Given the description of an element on the screen output the (x, y) to click on. 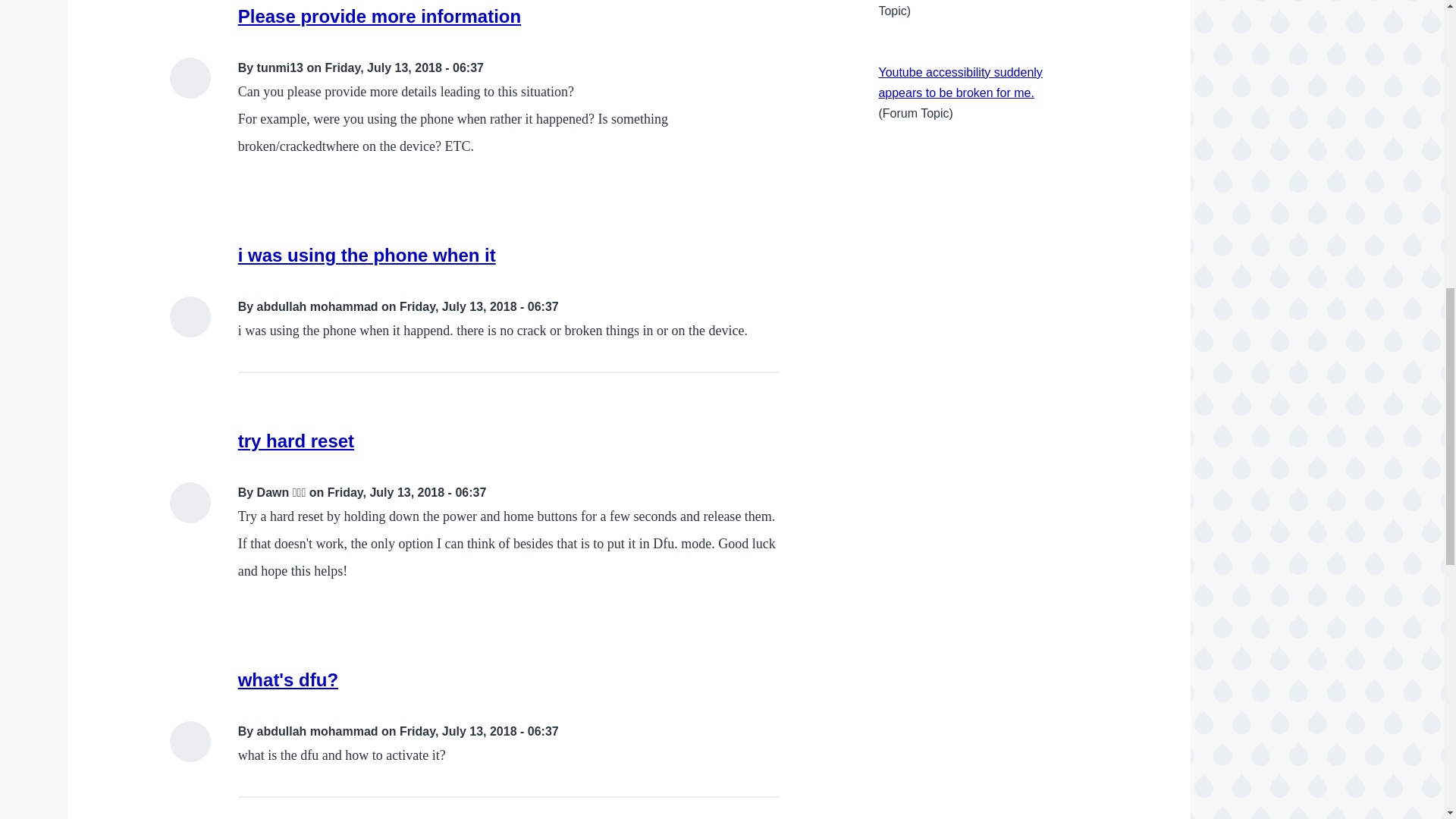
i was using the phone when it (367, 254)
Please provide more information (379, 15)
Youtube accessibility suddenly appears to be broken for me. (959, 82)
what's dfu? (287, 679)
try hard reset (295, 440)
